Given the description of an element on the screen output the (x, y) to click on. 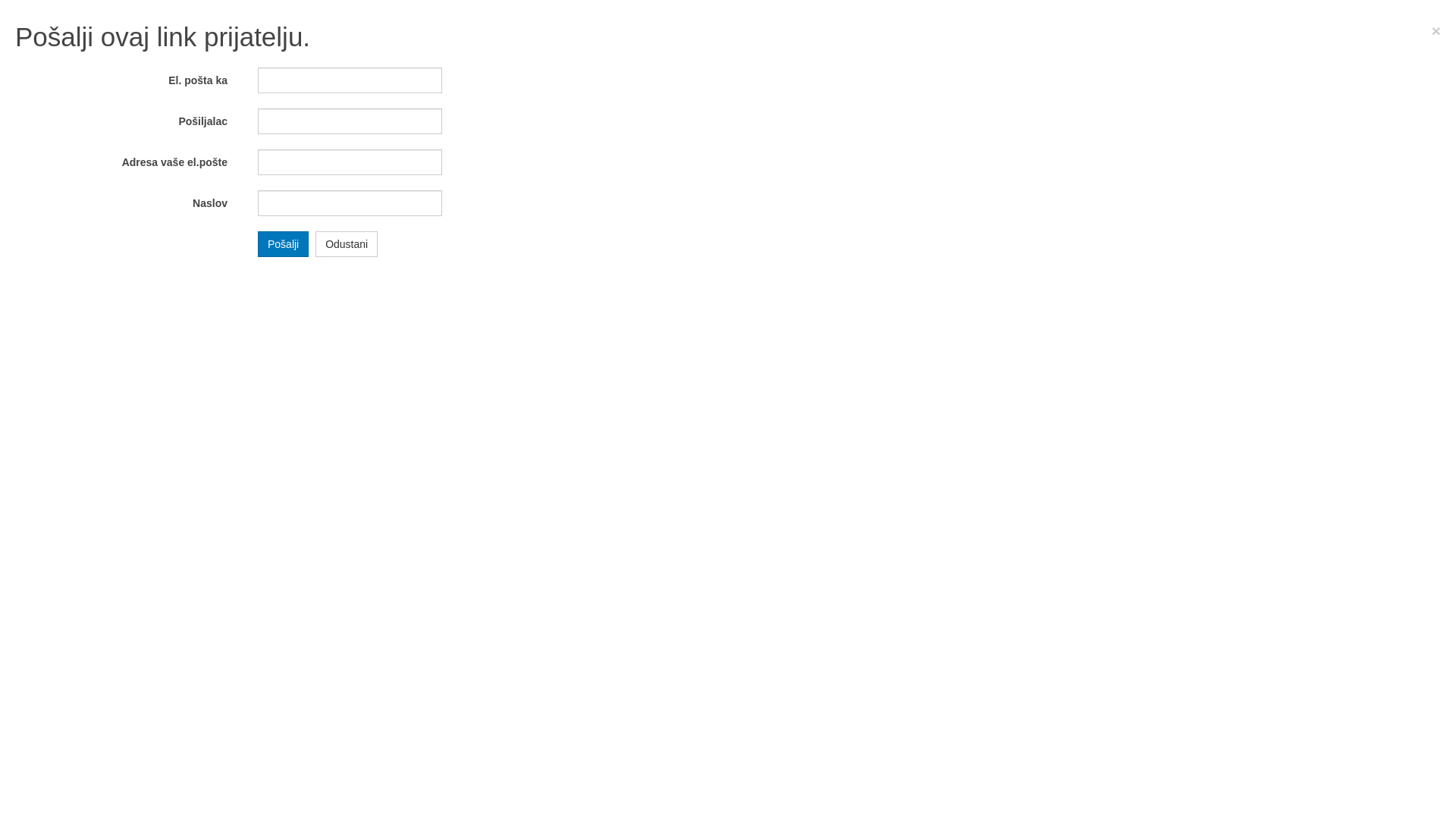
Odustani Element type: text (346, 243)
